Given the description of an element on the screen output the (x, y) to click on. 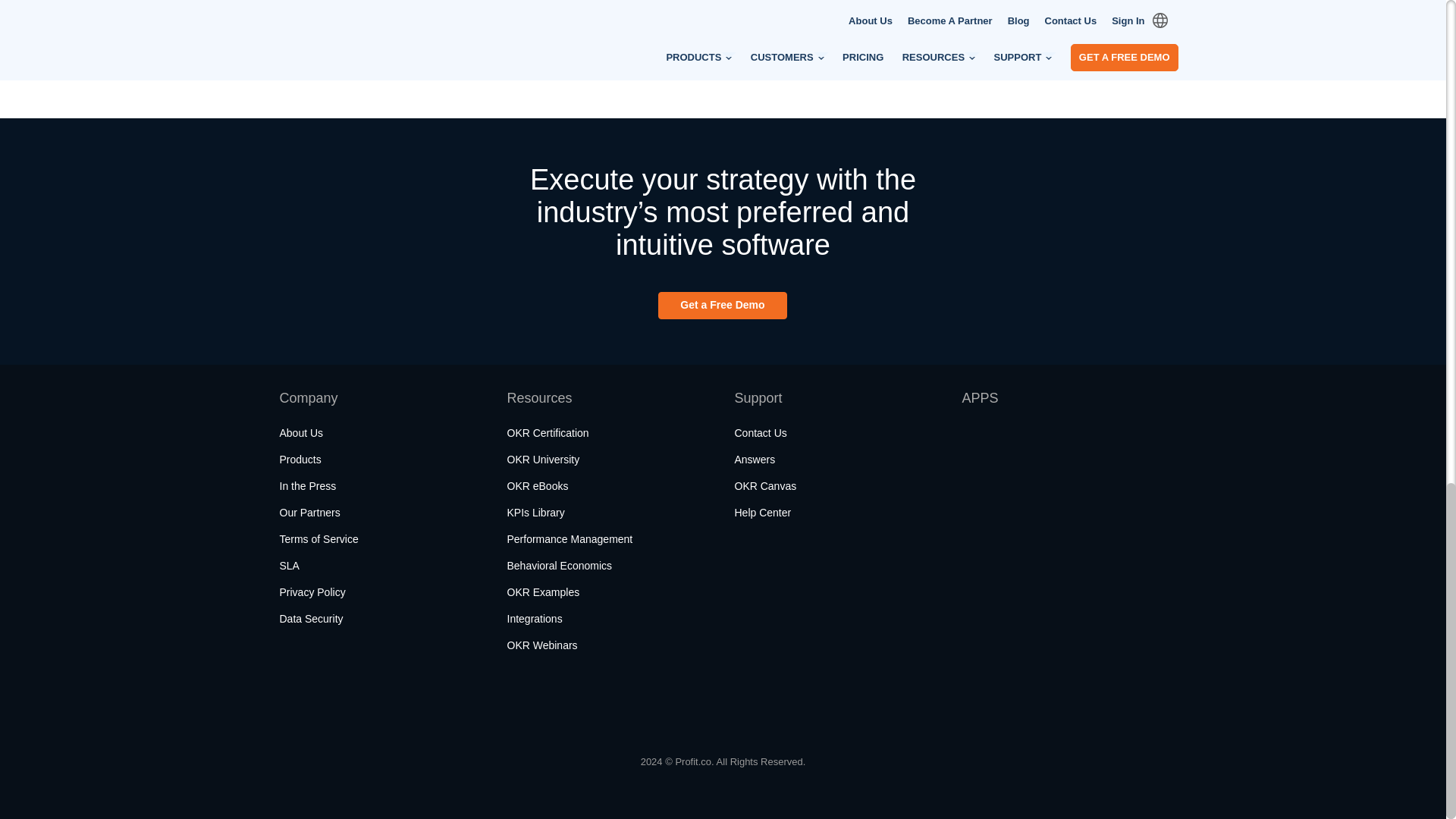
Youtube (413, 706)
Twitter (332, 706)
Facebook (293, 706)
instagram (373, 706)
LinkedIn (455, 706)
